Given the description of an element on the screen output the (x, y) to click on. 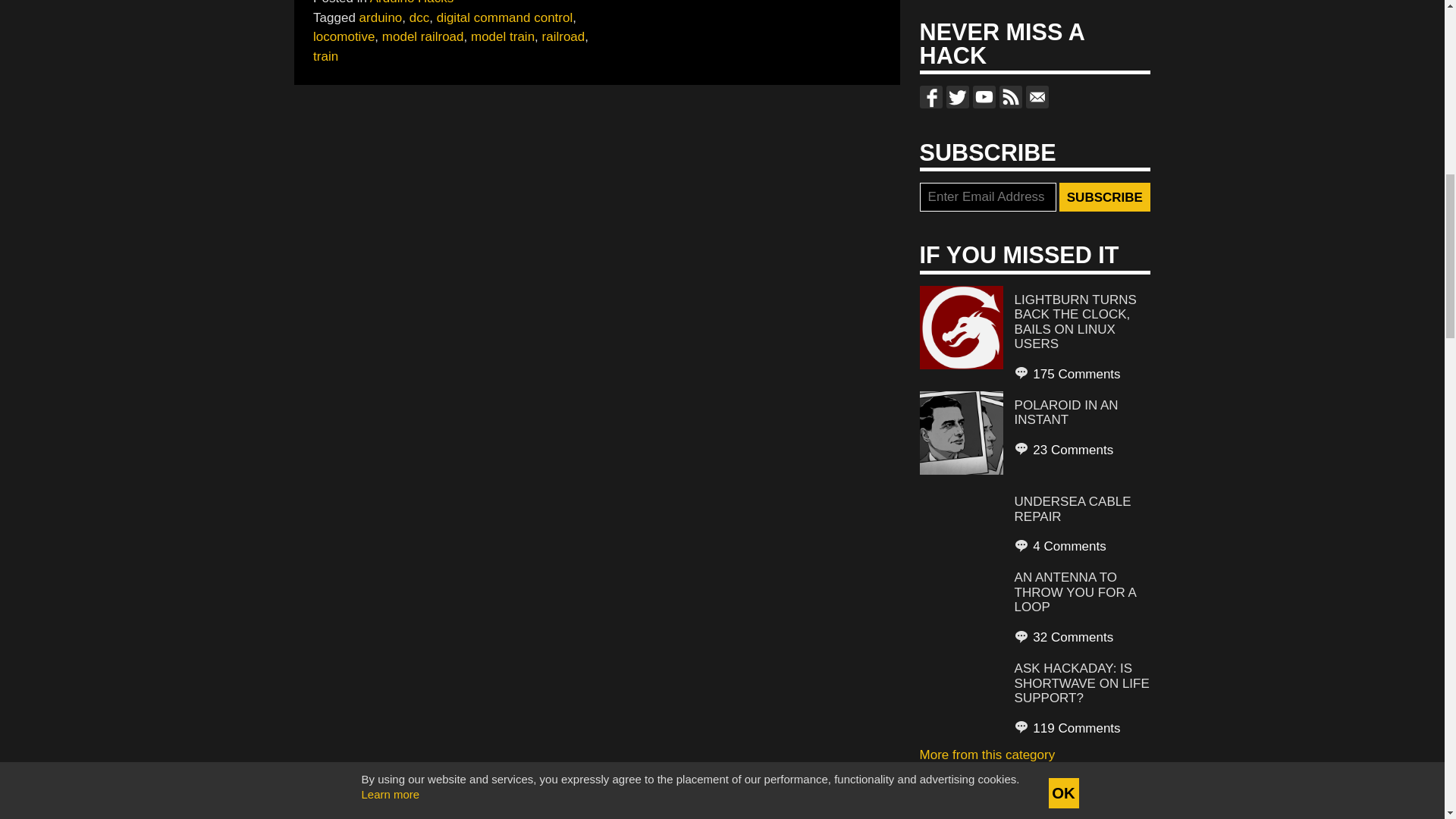
arduino (381, 17)
locomotive (343, 36)
train (325, 56)
model train (502, 36)
dcc (419, 17)
railroad (563, 36)
digital command control (504, 17)
model railroad (422, 36)
Subscribe (1104, 196)
Arduino Hacks (411, 2)
